Given the description of an element on the screen output the (x, y) to click on. 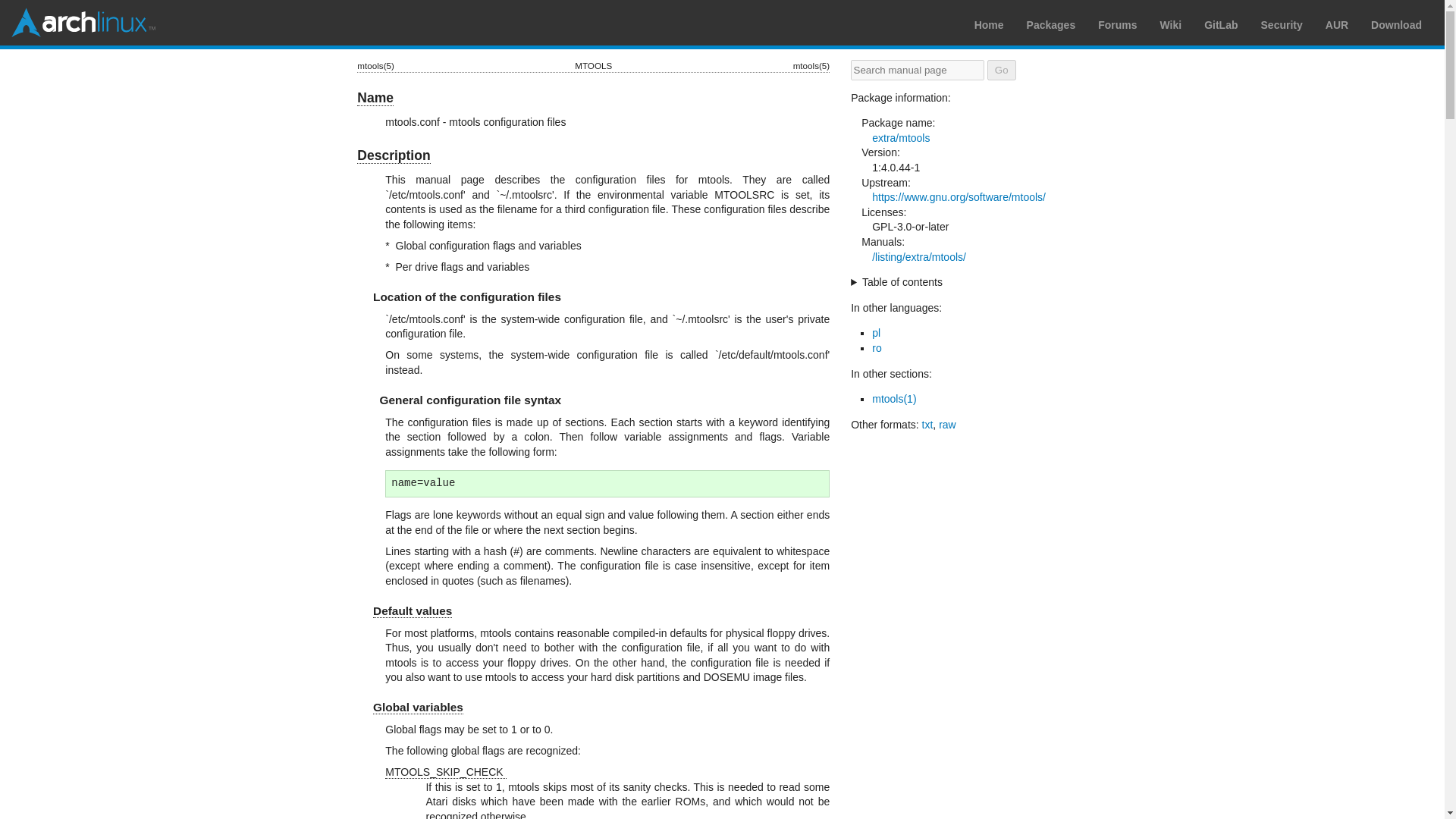
GitLab (1220, 24)
Default values (411, 611)
Get Arch Linux (1396, 24)
Arch Linux Security Tracker (1281, 24)
Community documentation (1171, 24)
GitLab (1220, 24)
AUR (1336, 24)
Wiki (1171, 24)
Security (1281, 24)
Return to the main page (83, 22)
